Given the description of an element on the screen output the (x, y) to click on. 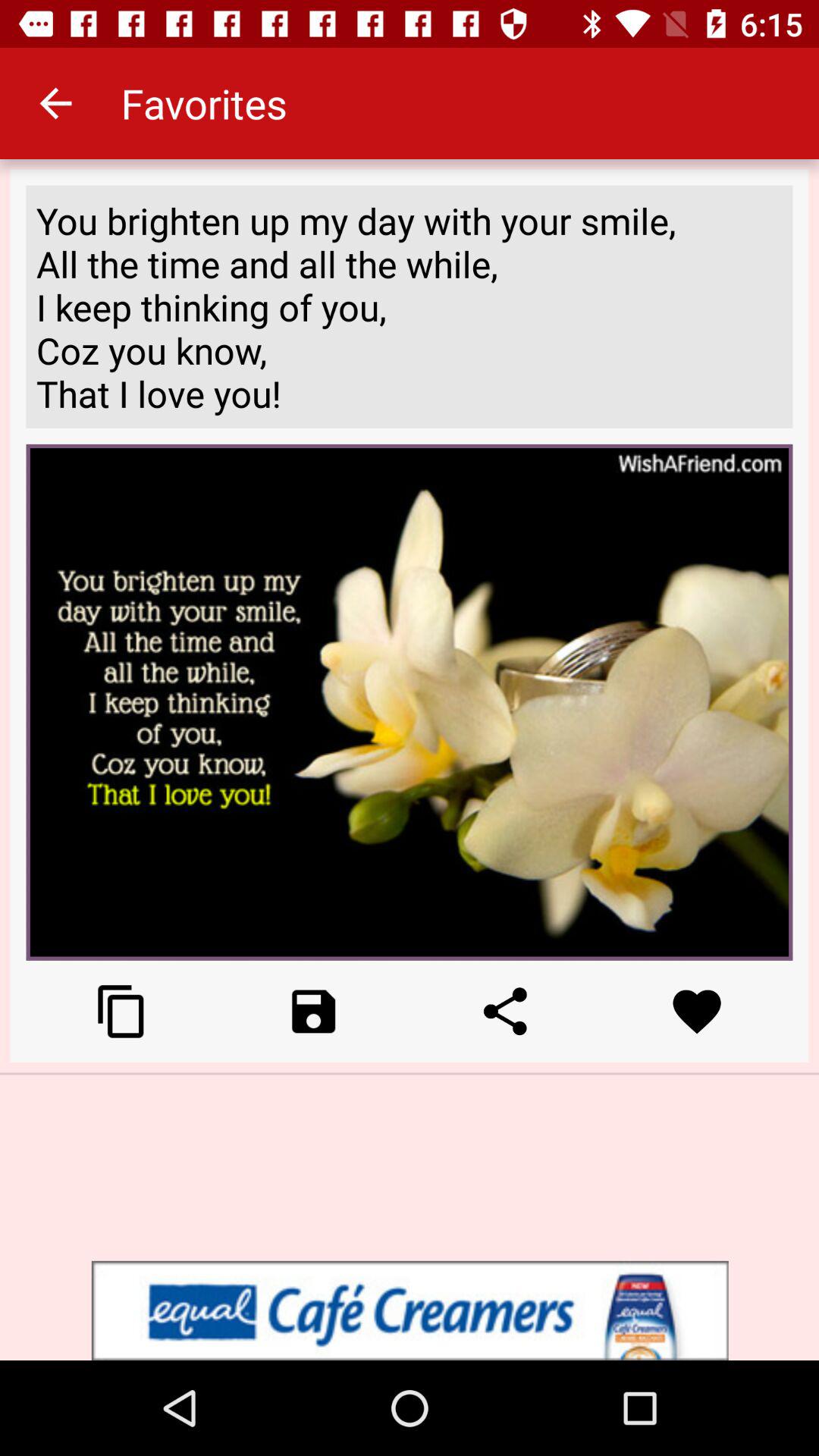
go back (313, 1011)
